Given the description of an element on the screen output the (x, y) to click on. 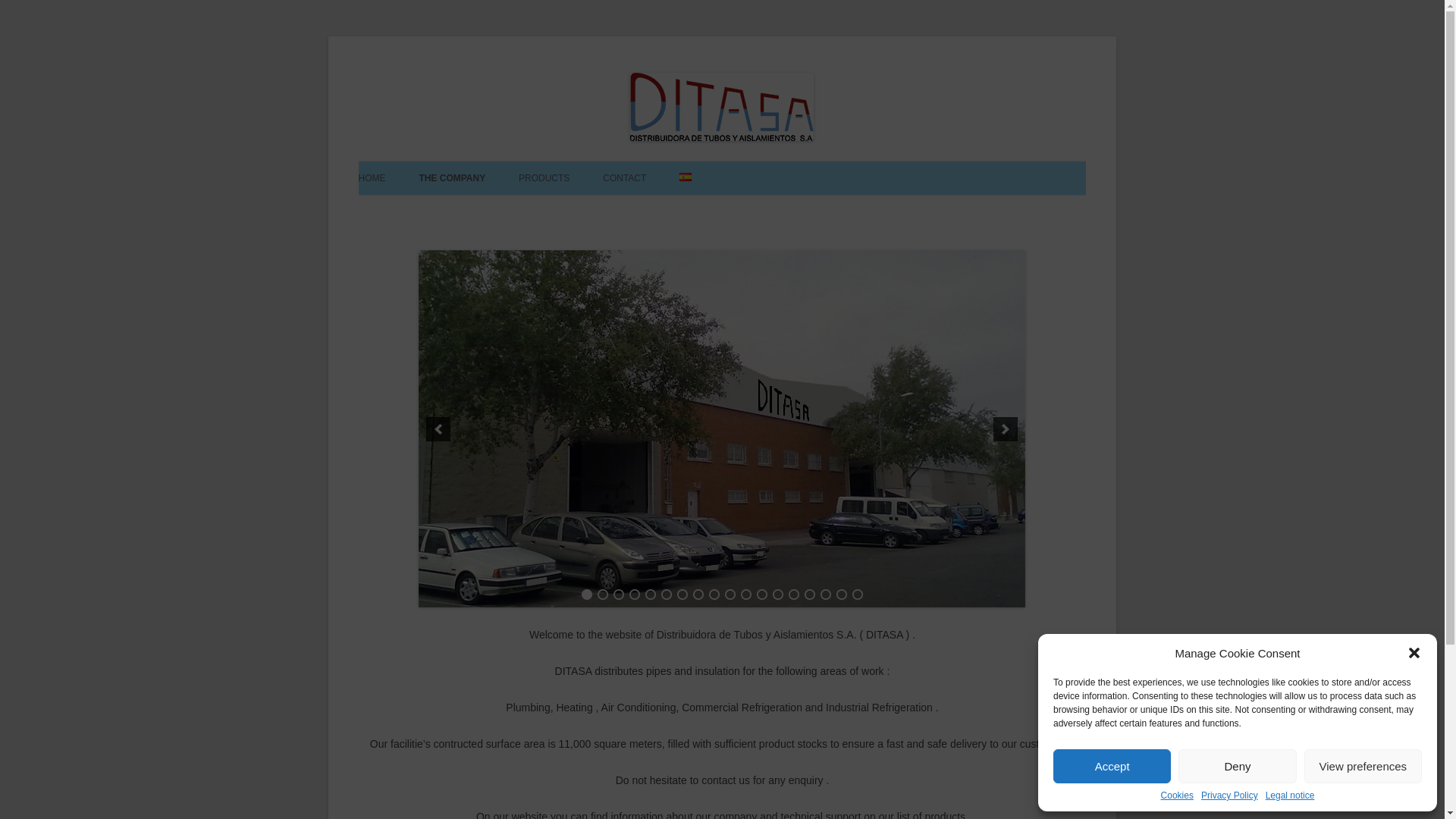
THE COMPANY (451, 177)
CONTACT (624, 177)
Legal notice (1289, 795)
Deny (1236, 765)
Accept (1111, 765)
View preferences (1363, 765)
Cookies (1176, 795)
PRODUCTS (543, 177)
Ditasa (751, 213)
Privacy Policy (1229, 795)
